Given the description of an element on the screen output the (x, y) to click on. 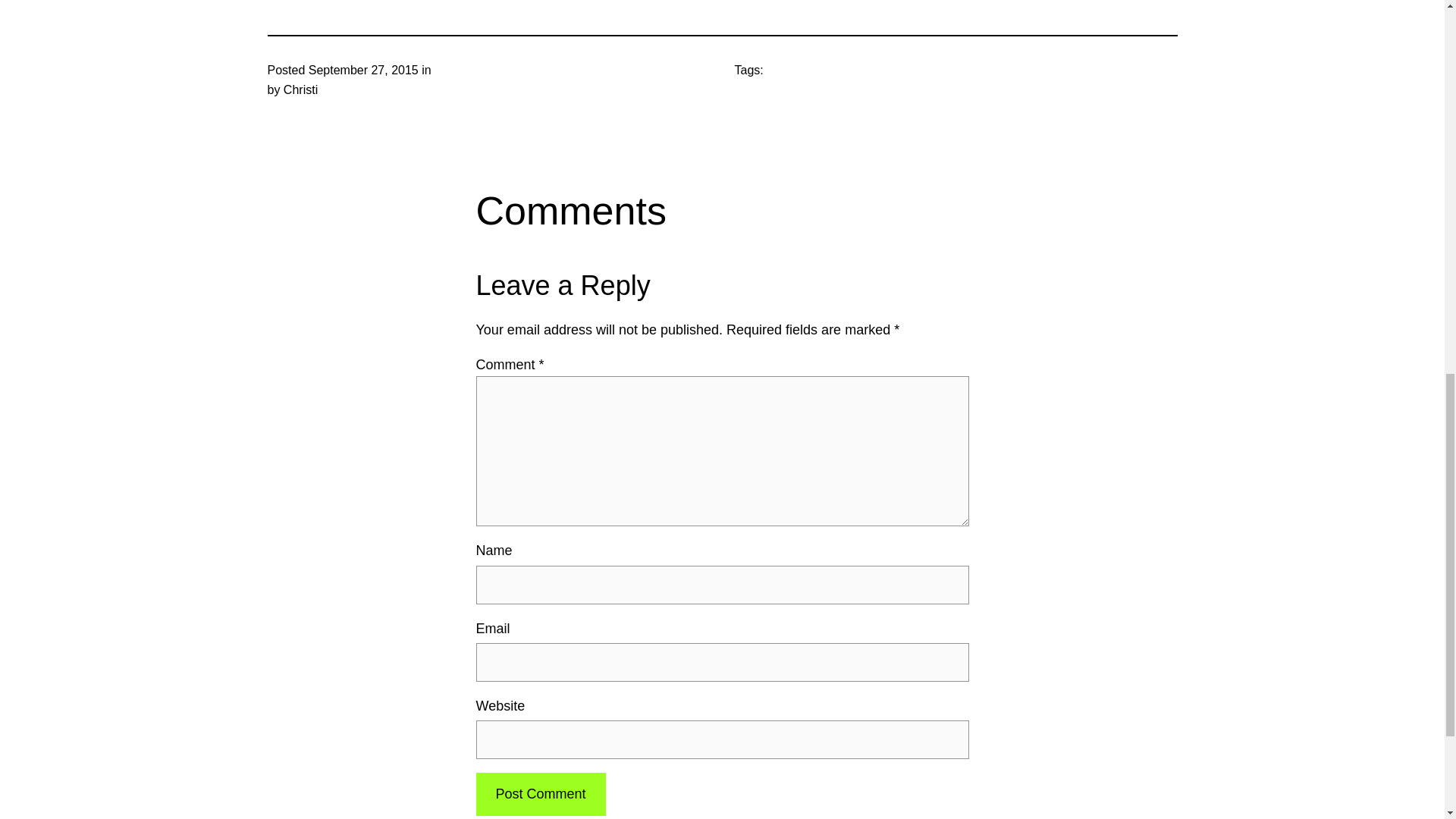
Post Comment (540, 794)
Post Comment (540, 794)
